Given the description of an element on the screen output the (x, y) to click on. 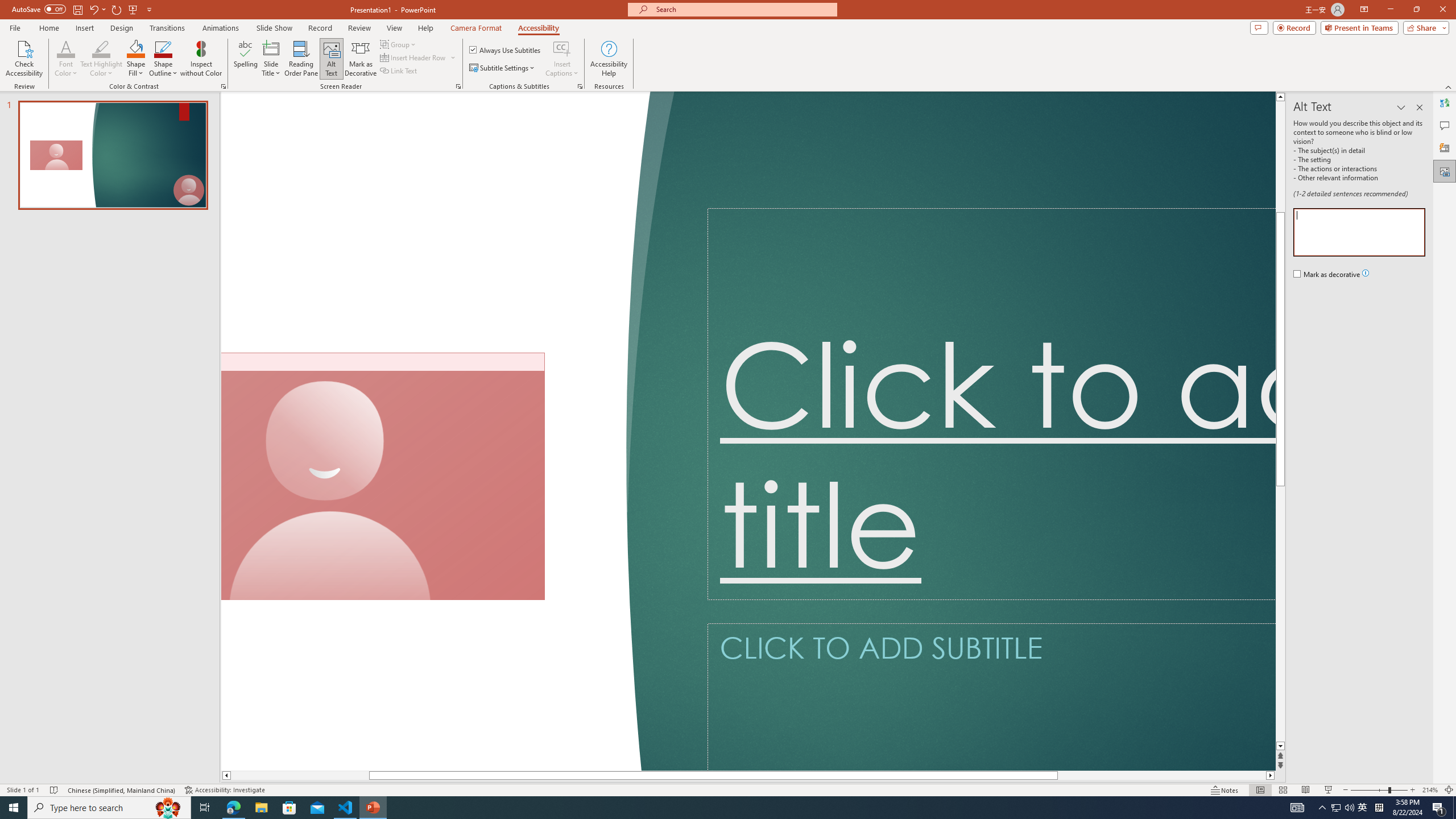
Always Use Subtitles (505, 49)
Camera Format (475, 28)
Subtitle Settings (502, 67)
Screen Reader (458, 85)
Insert Header Row (413, 56)
Decorative Locked (439, 430)
Inspect without Color (201, 58)
Subtitle TextBox (991, 696)
